Given the description of an element on the screen output the (x, y) to click on. 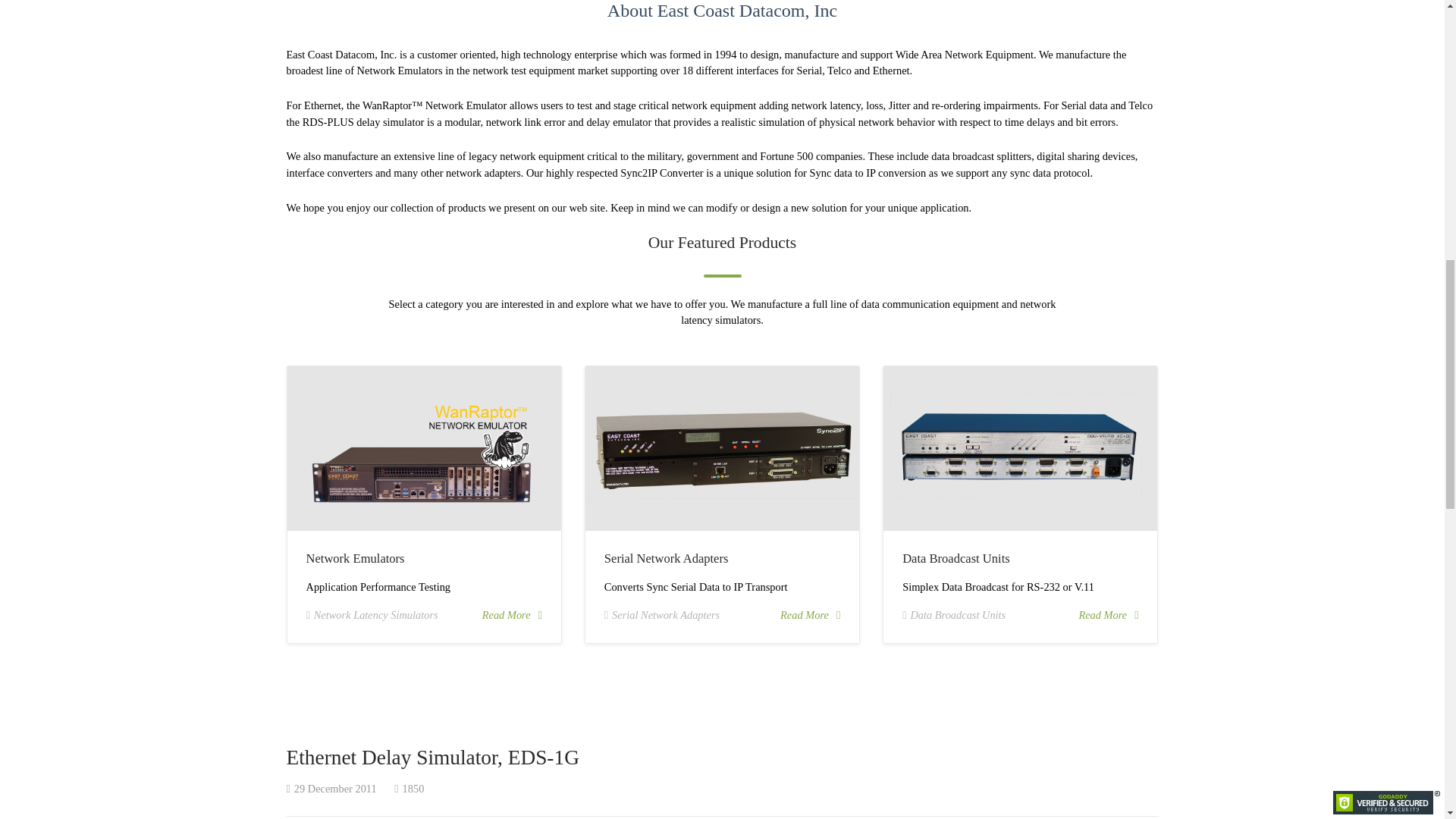
Hits:  (408, 788)
Published:  (331, 788)
